Given the description of an element on the screen output the (x, y) to click on. 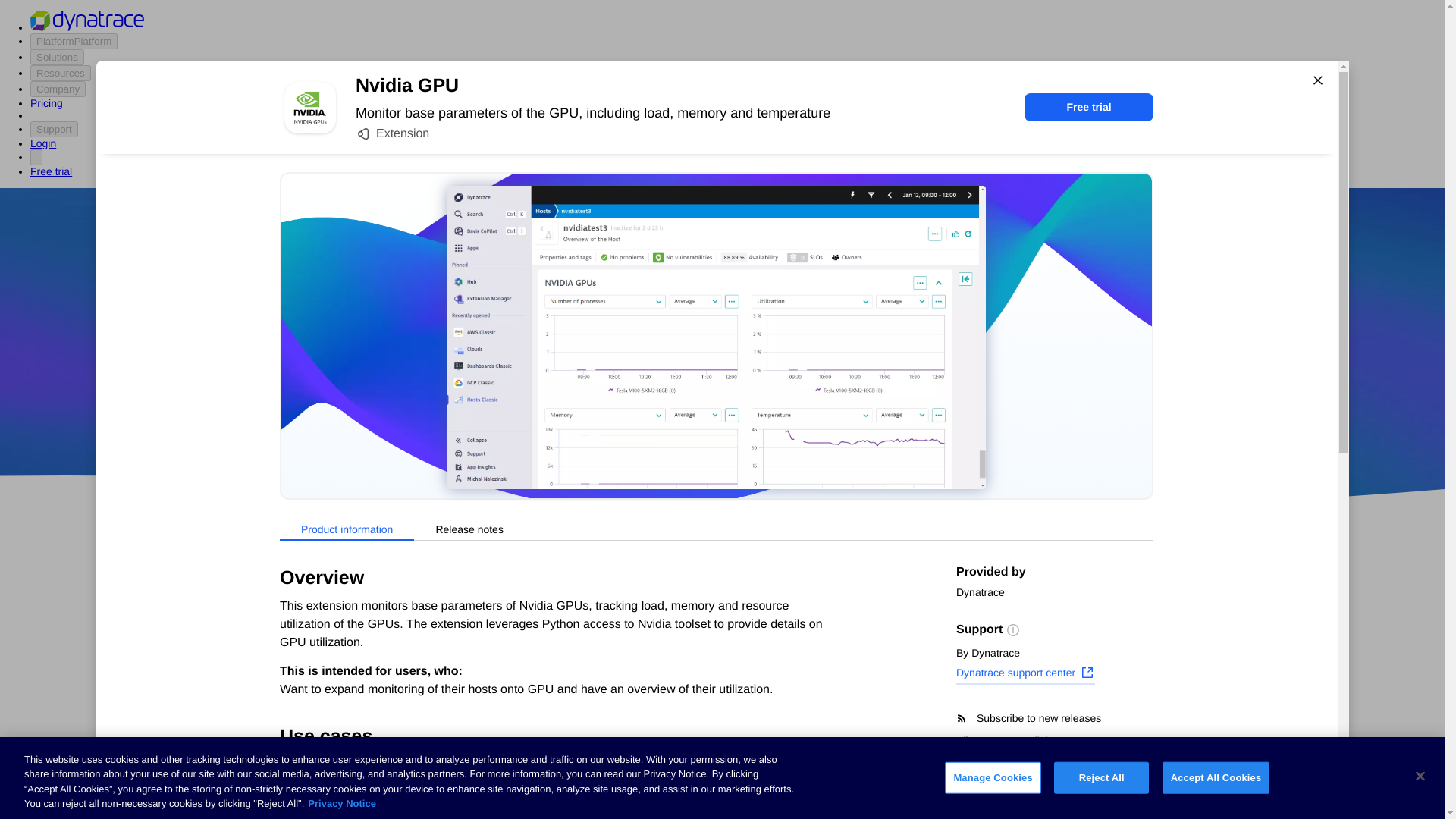
 Envoy Istio Kubernetes Service Mesh (841, 778)
DevOps (829, 418)
Wipro (840, 375)
Copy page link (1003, 740)
Wipro (840, 375)
Open source (903, 418)
Log Management and Analytics (345, 727)
Dynatrace support center (1025, 674)
Google Cloud (751, 418)
AWS (637, 418)
Get data into Dynatrace (325, 641)
Free trial (1089, 107)
Hub home (291, 583)
Build your own app (314, 669)
Certified Partners (309, 612)
